Given the description of an element on the screen output the (x, y) to click on. 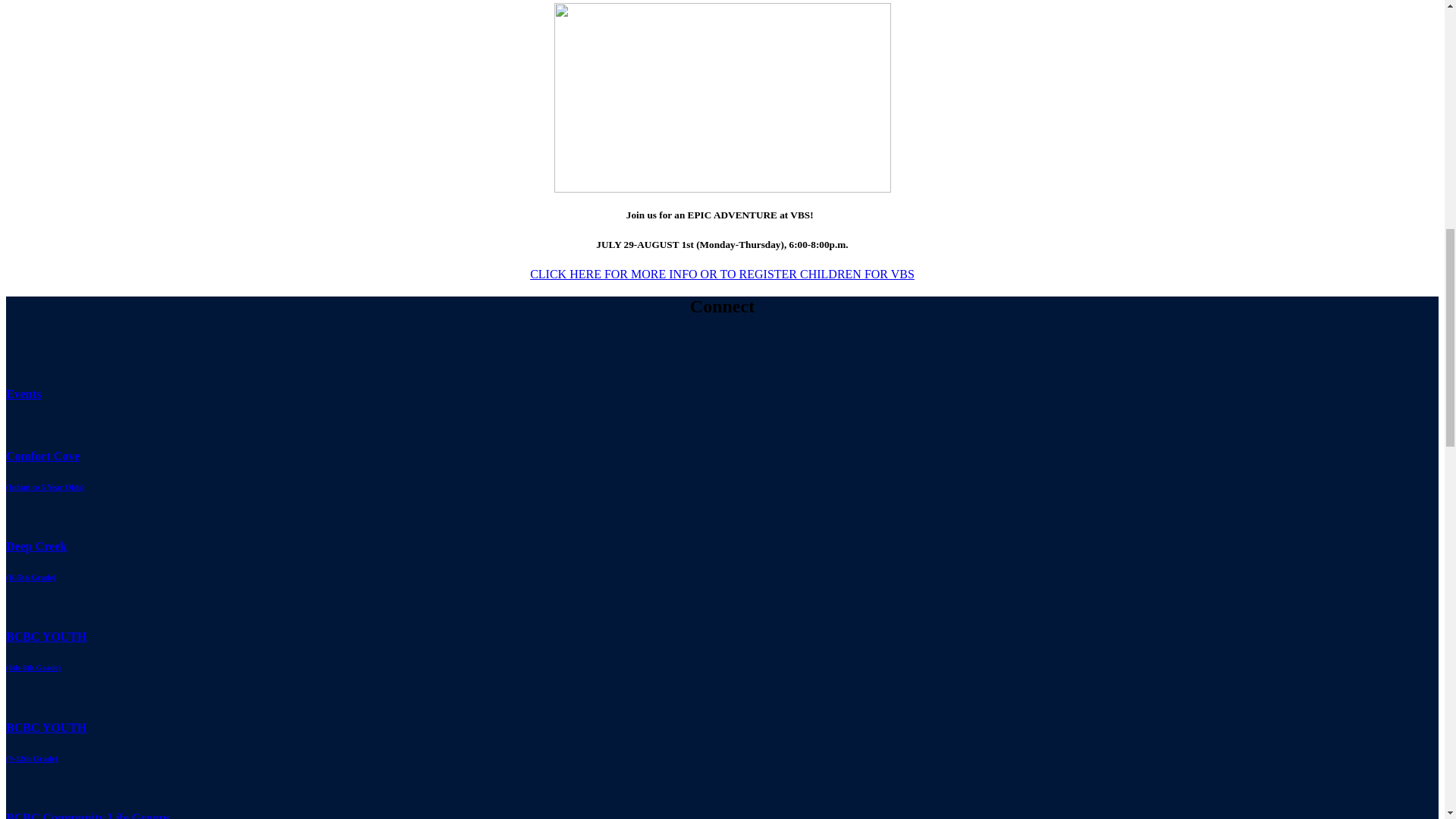
CLICK HERE FOR MORE INFO OR TO REGISTER CHILDREN FOR VBS (721, 273)
